Given the description of an element on the screen output the (x, y) to click on. 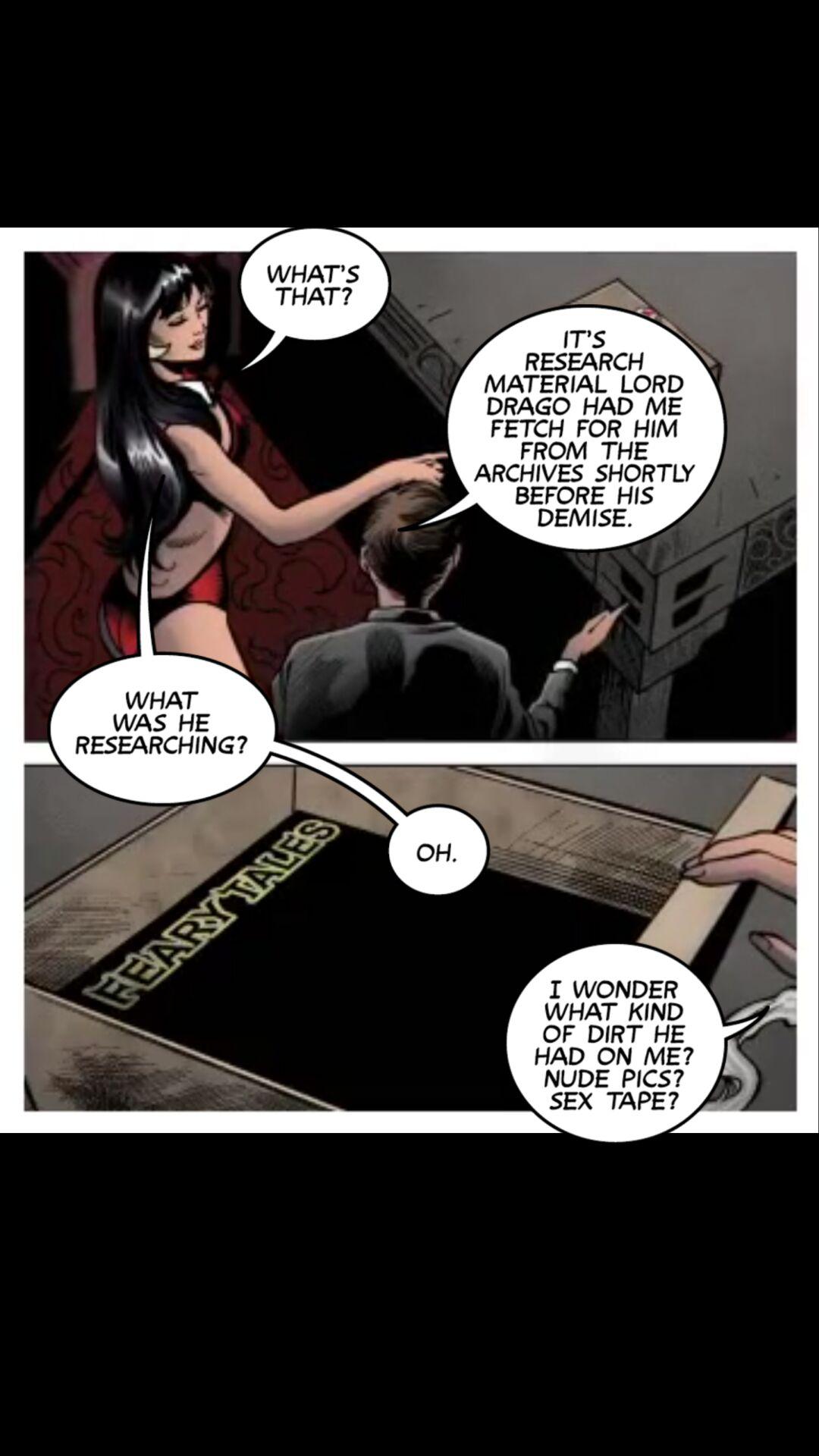
it 's research material lord drago had me fetch for him from the archives shortly before his demise (562, 428)
